Given the description of an element on the screen output the (x, y) to click on. 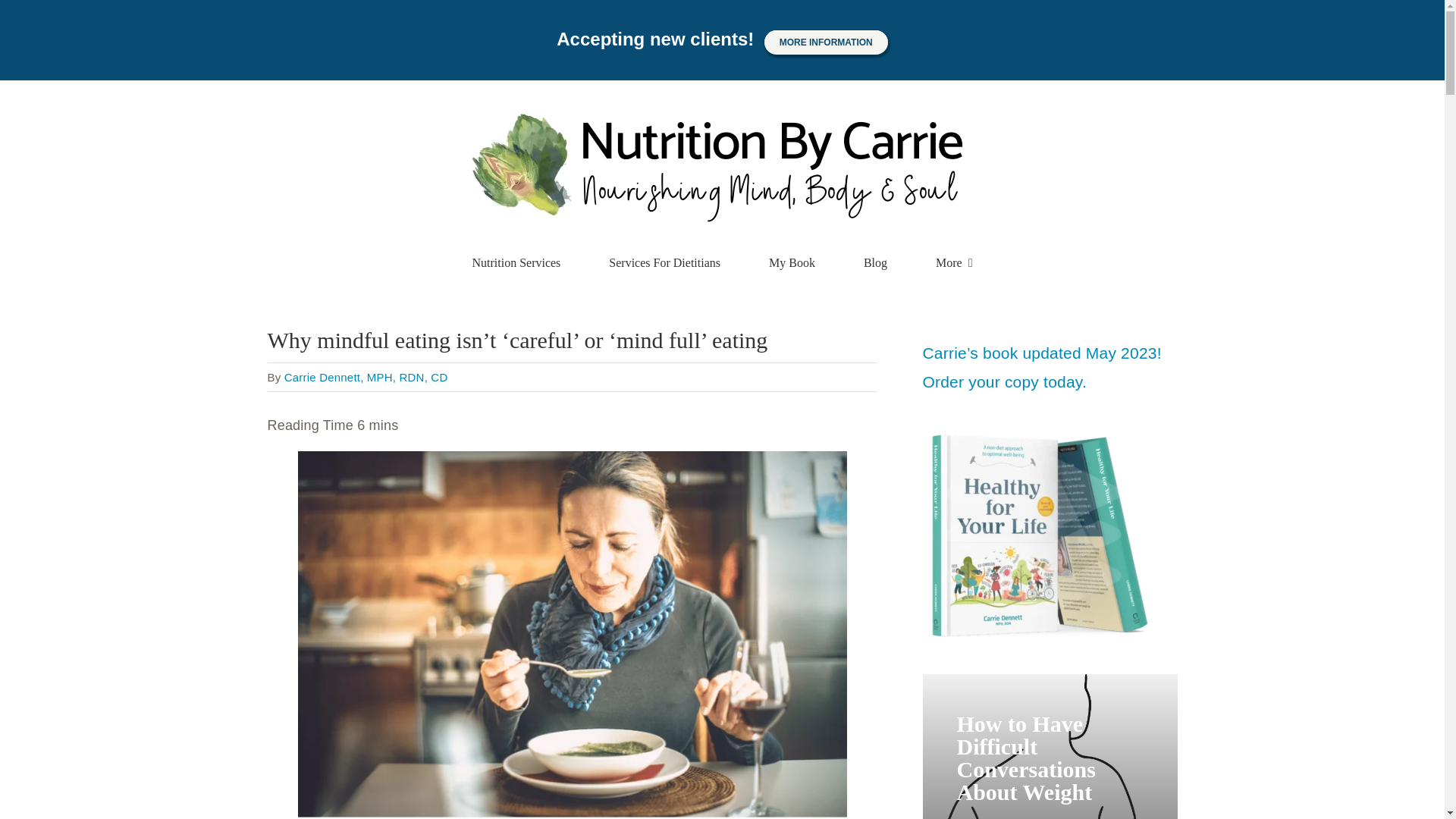
Carrie Dennett, MPH, RDN, CD (365, 377)
Services For Dietitians (664, 263)
Posts by Carrie Dennett, MPH, RDN, CD (365, 377)
MORE INFORMATION (826, 42)
Nutrition Services (515, 263)
My Book (791, 263)
